Given the description of an element on the screen output the (x, y) to click on. 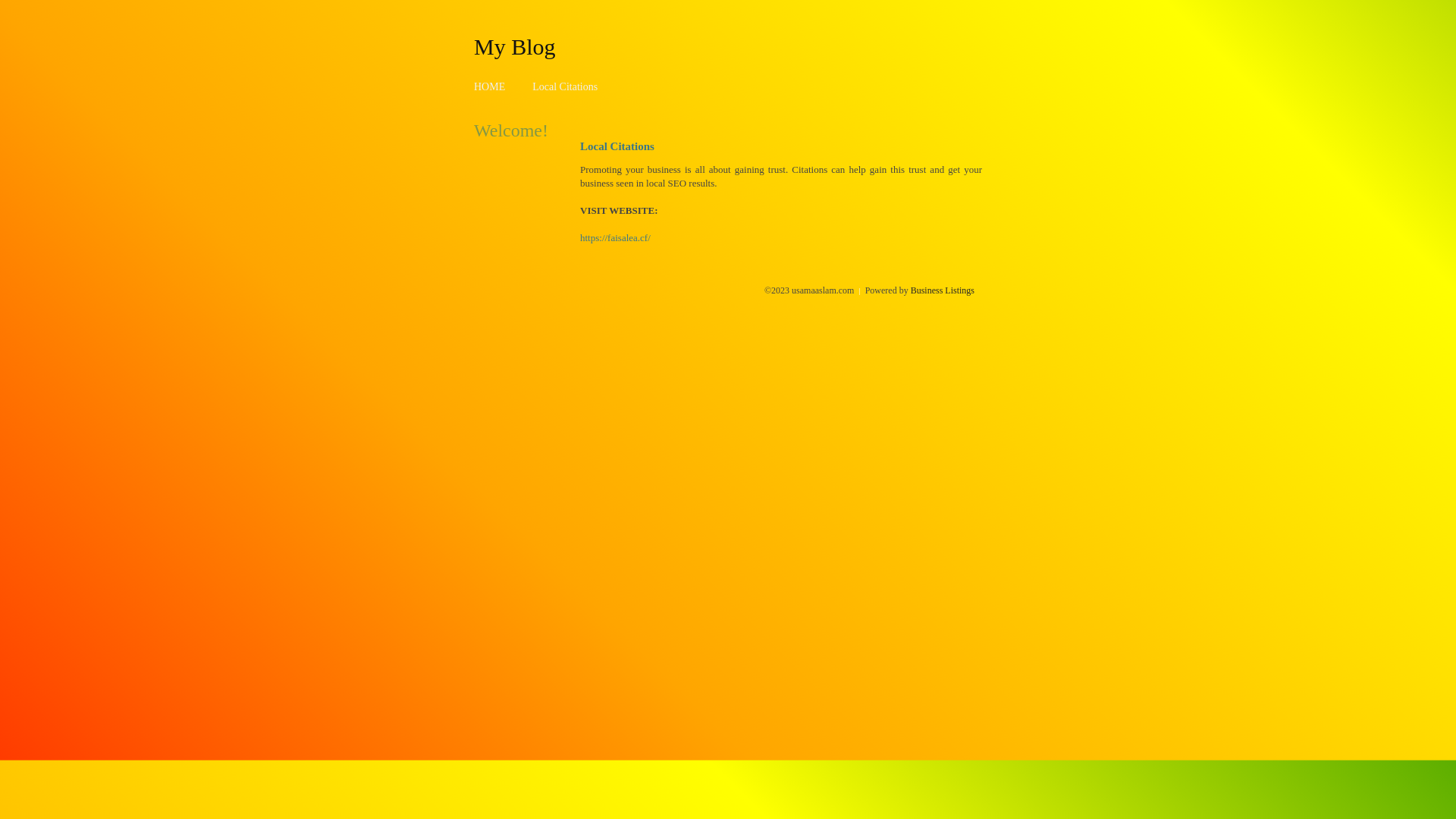
https://faisalea.cf/ Element type: text (615, 237)
My Blog Element type: text (514, 46)
HOME Element type: text (489, 86)
Local Citations Element type: text (564, 86)
Business Listings Element type: text (942, 290)
